Given the description of an element on the screen output the (x, y) to click on. 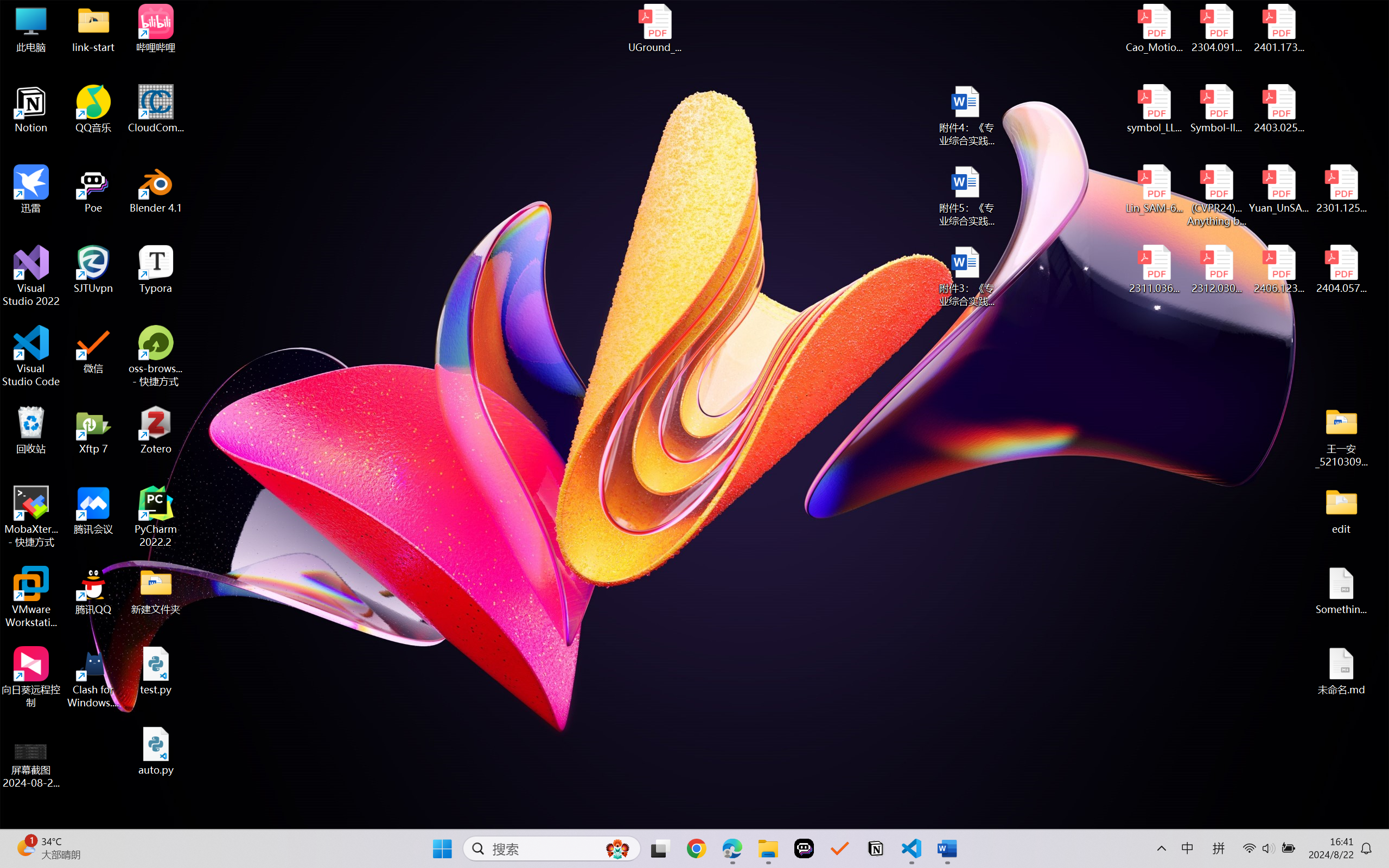
PyCharm 2022.2 (156, 516)
Google Chrome (696, 848)
auto.py (156, 751)
Something.md (1340, 591)
VMware Workstation Pro (31, 597)
2301.12597v3.pdf (1340, 189)
2304.09121v3.pdf (1216, 28)
